Given the description of an element on the screen output the (x, y) to click on. 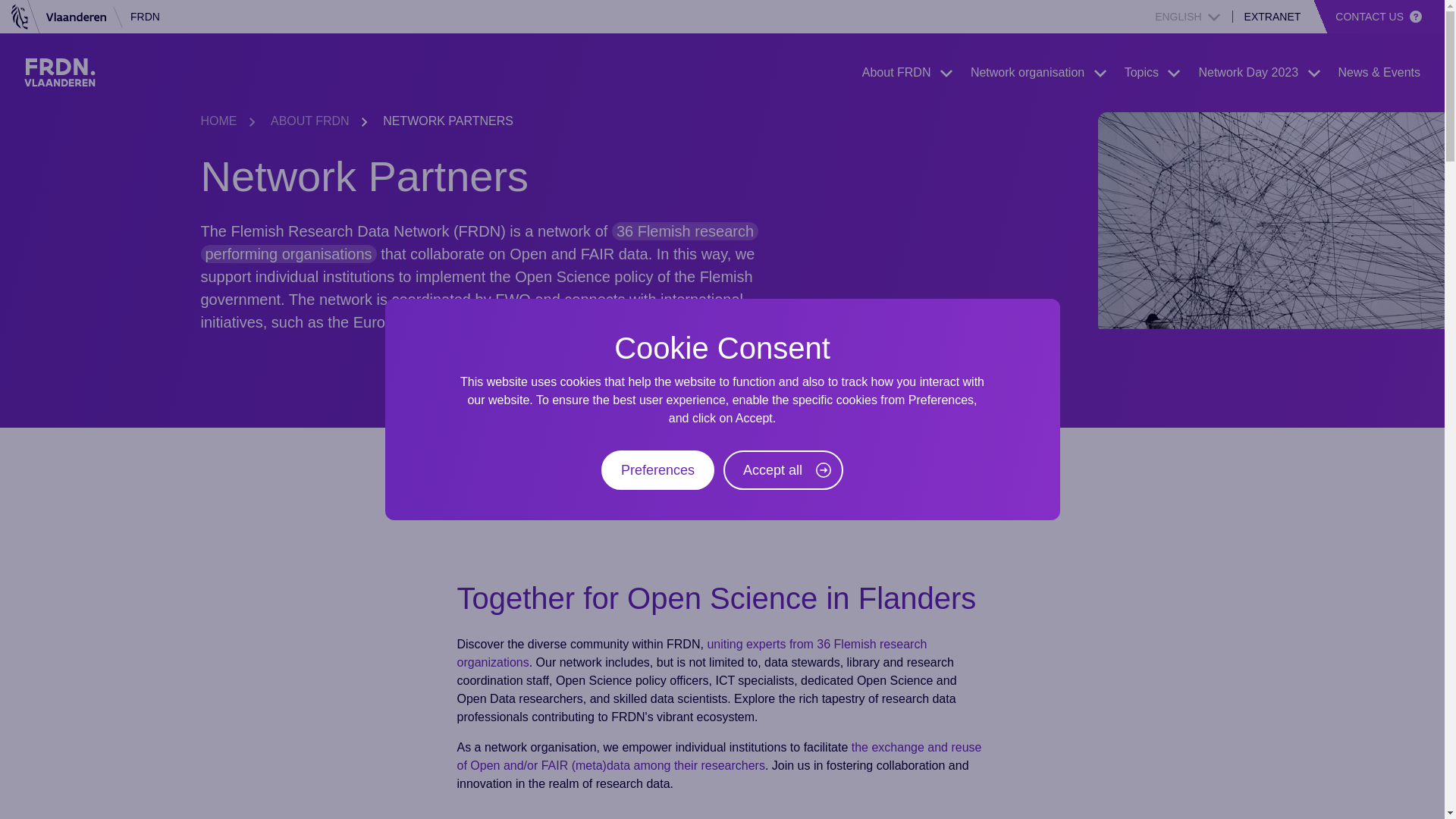
ENGLISH (1187, 17)
FRDN Vlaanderen (60, 72)
Go to flanders.be (58, 16)
EXTRANET (1272, 16)
About FRDN (906, 72)
Network organisation (1038, 72)
Topics (1152, 72)
Network Day 2023 (1258, 72)
Go to homepage (60, 72)
extranet (1272, 16)
